Given the description of an element on the screen output the (x, y) to click on. 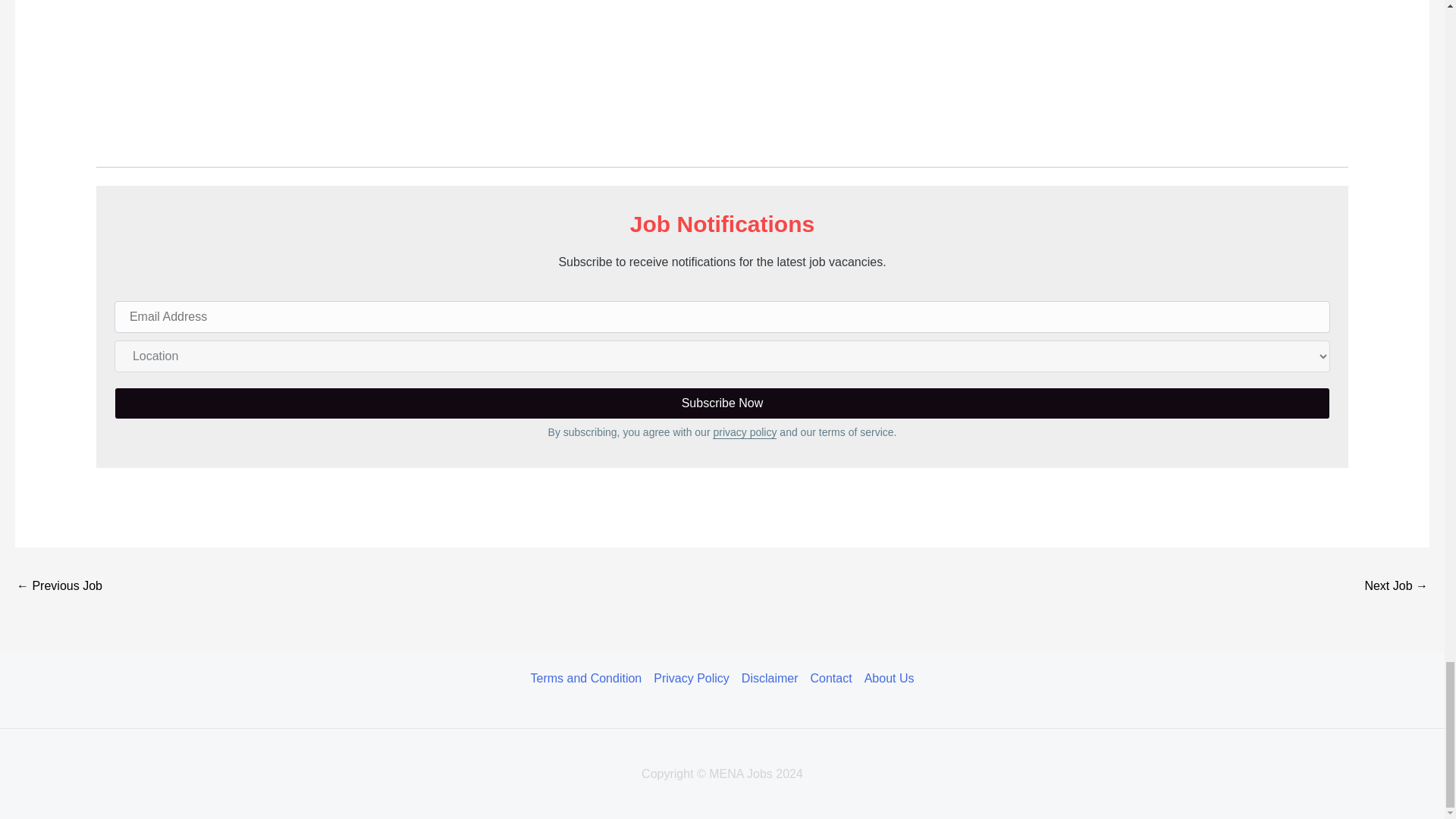
Contact (832, 678)
About Us (886, 678)
privacy policy (744, 431)
Subscribe Now (722, 403)
Privacy Policy (691, 678)
Subscribe Now (722, 403)
Terms and Condition (589, 678)
Disclaimer (770, 678)
